Given the description of an element on the screen output the (x, y) to click on. 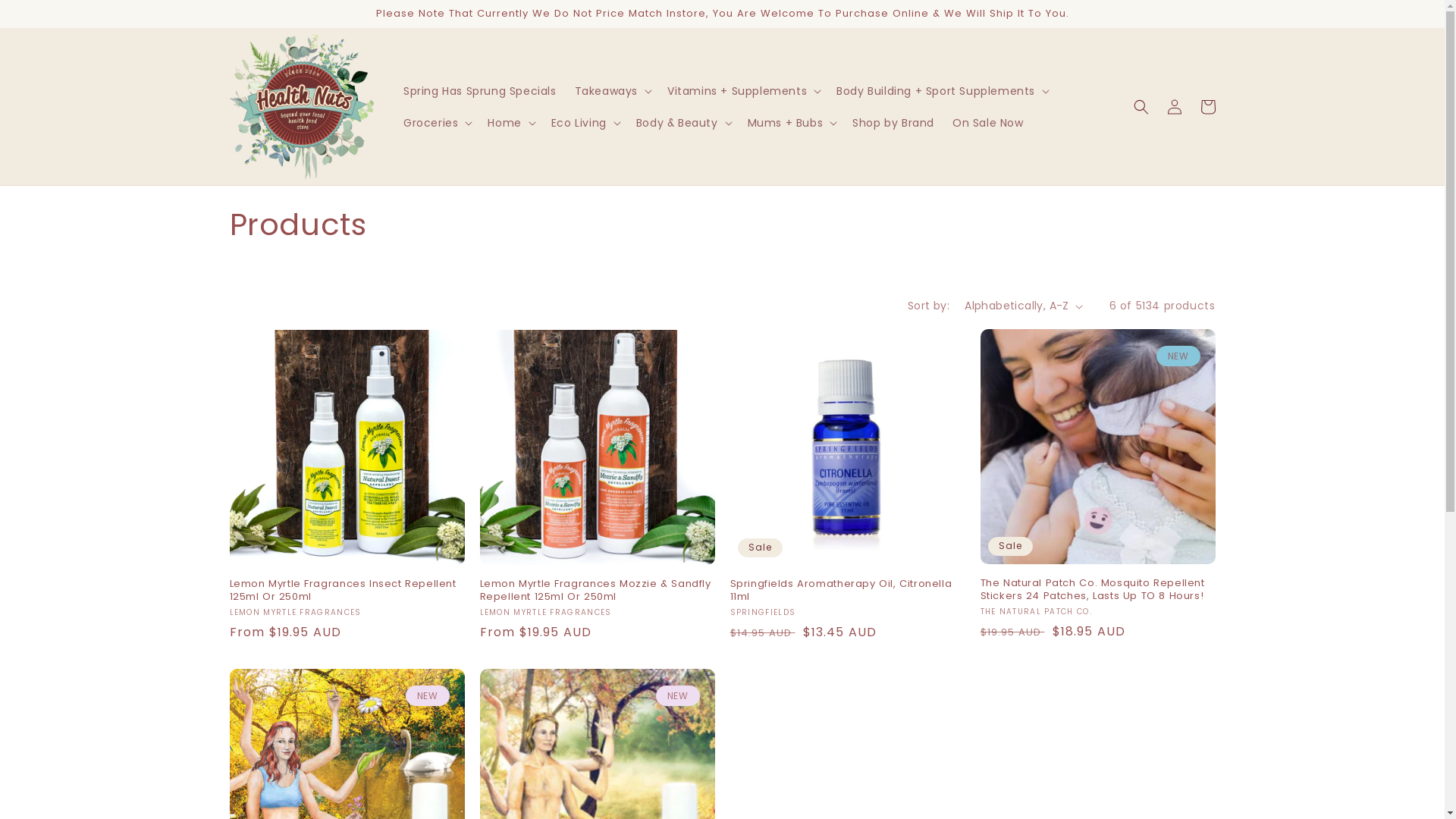
Log in Element type: text (1173, 106)
Lemon Myrtle Fragrances Insect Repellent 125ml Or 250ml Element type: text (346, 590)
Springfields Aromatherapy Oil, Citronella 11ml Element type: text (846, 590)
Cart Element type: text (1206, 106)
Spring Has Sprung Specials Element type: text (479, 90)
On Sale Now Element type: text (987, 122)
Shop by Brand Element type: text (893, 122)
